Given the description of an element on the screen output the (x, y) to click on. 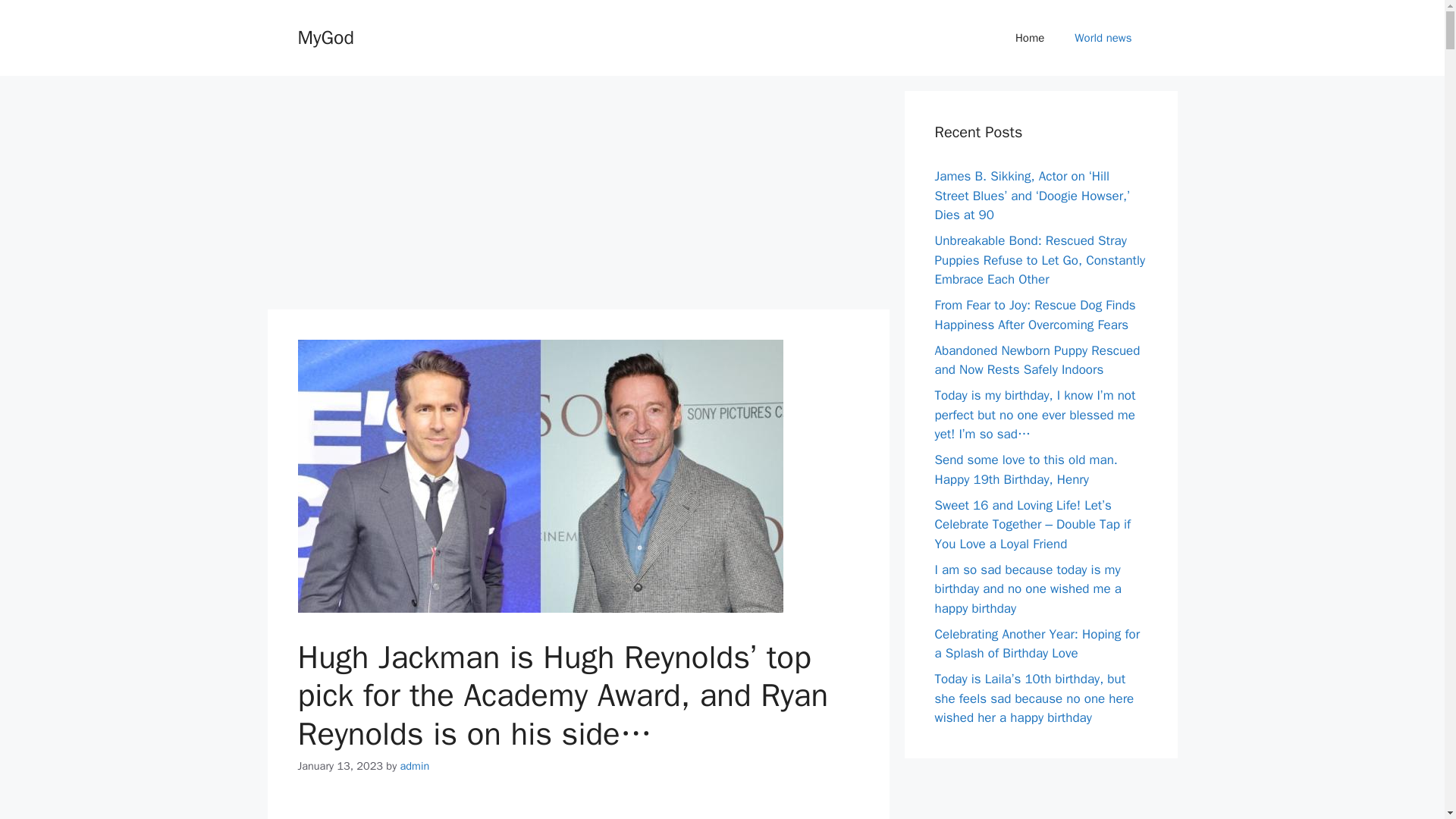
Home (1029, 37)
Advertisement (576, 809)
MyGod (325, 37)
admin (414, 766)
Advertisement (577, 196)
World news (1103, 37)
Send some love to this old man. Happy 19th Birthday, Henry (1025, 469)
View all posts by admin (414, 766)
Abandoned Newborn Puppy Rescued and Now Rests Safely Indoors (1037, 360)
